Given the description of an element on the screen output the (x, y) to click on. 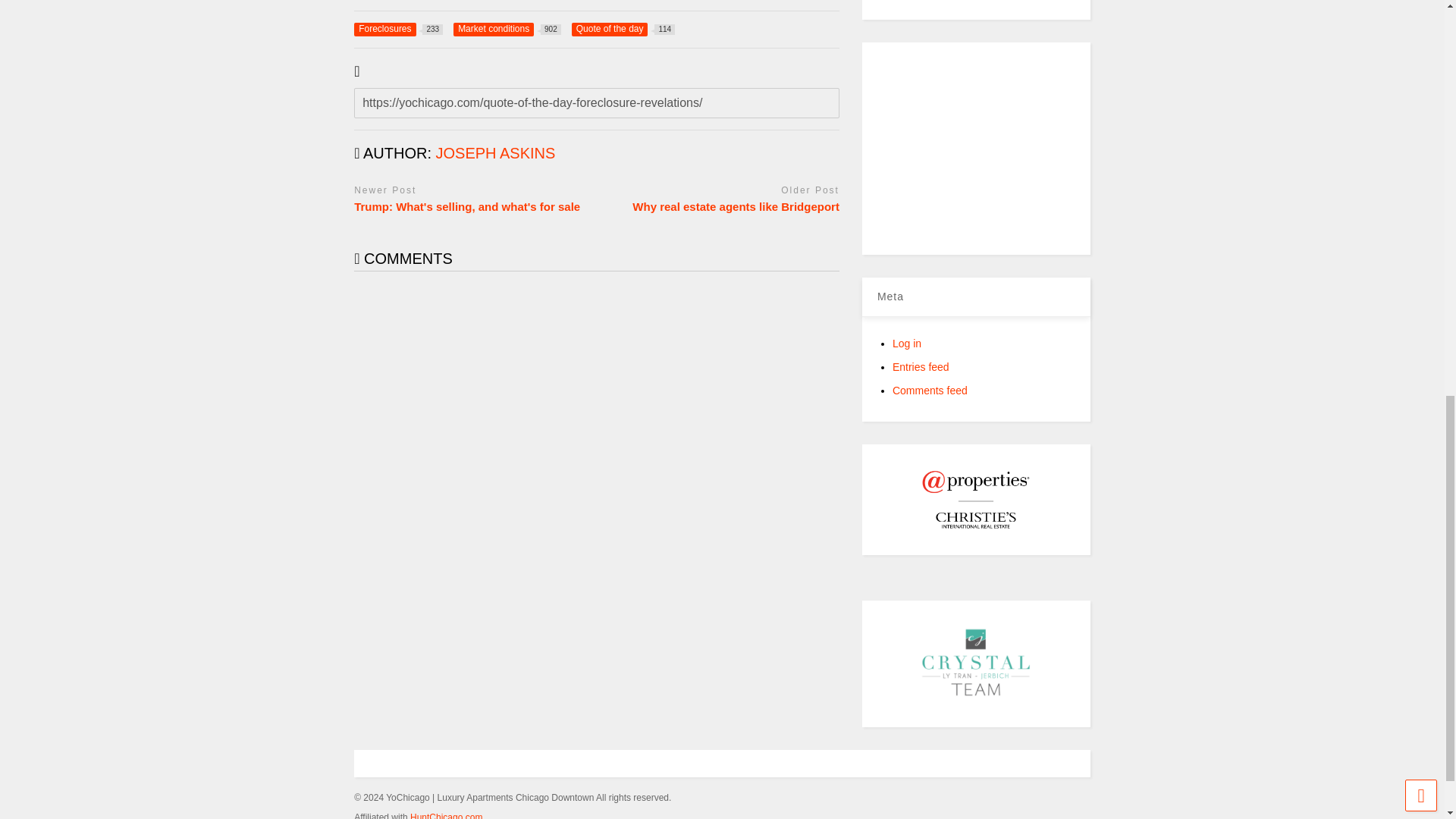
Trump: What's selling, and what's for sale (471, 206)
author profile (506, 29)
JOSEPH ASKINS (495, 152)
Advertisement (495, 152)
